Given the description of an element on the screen output the (x, y) to click on. 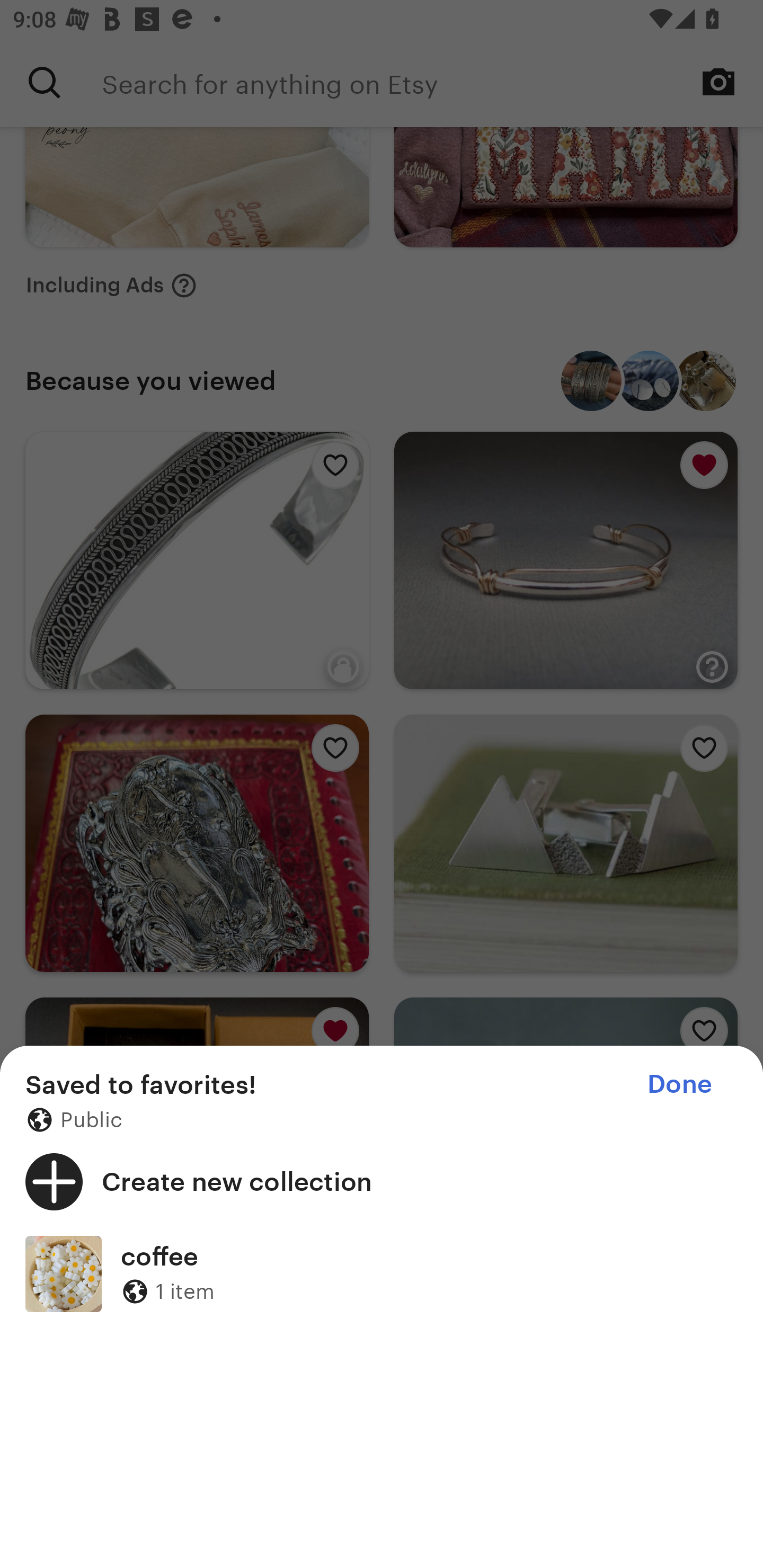
Done (679, 1083)
Create new collection (381, 1181)
coffee 1 item (381, 1273)
